Given the description of an element on the screen output the (x, y) to click on. 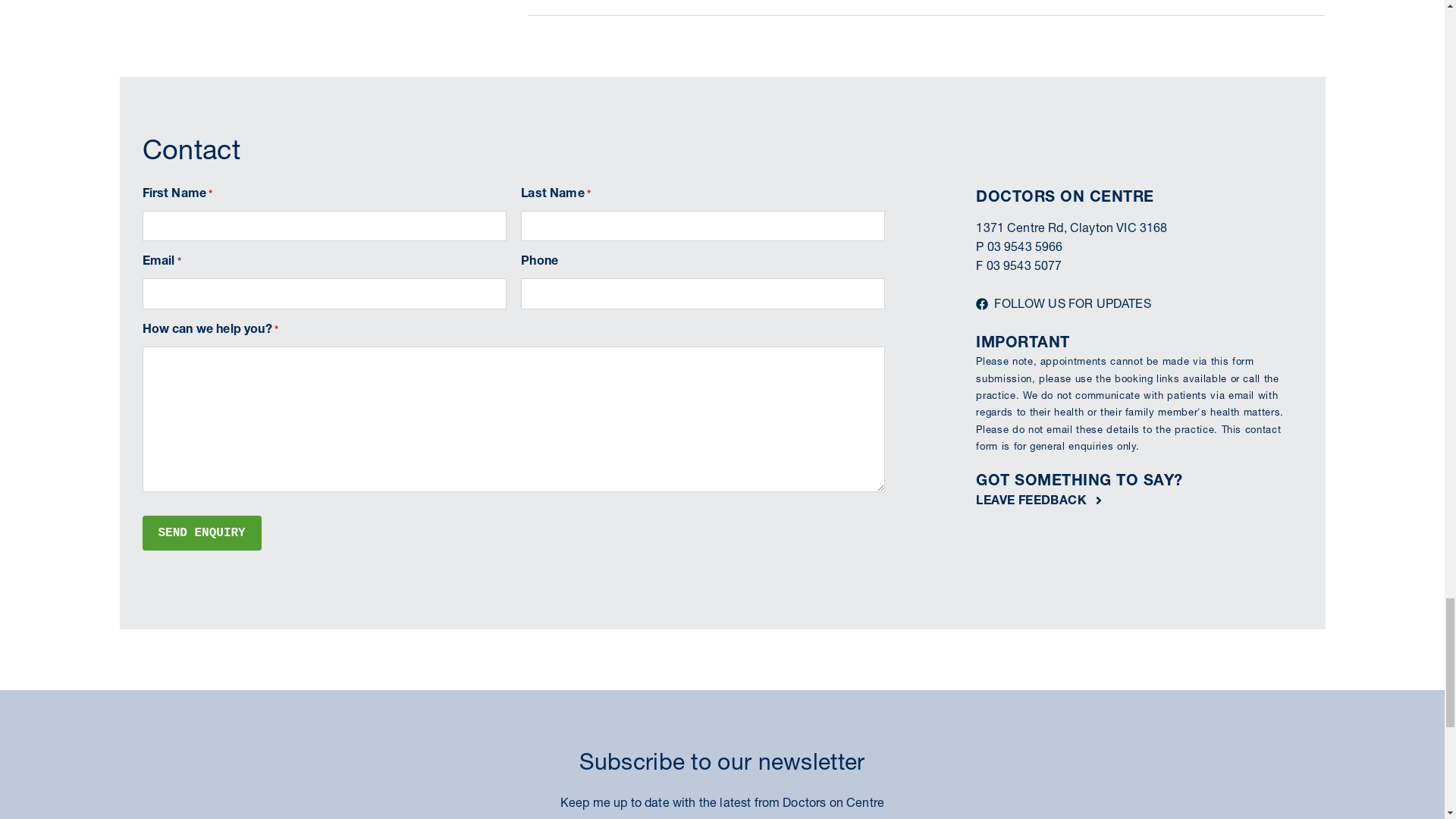
BOOK NOW Element type: text (1244, 74)
LOCATION Element type: text (909, 74)
Qualitas Health Element type: hover (225, 74)
BACK TO HOME Element type: text (1270, 20)
OUR PRACTICES Element type: text (1151, 20)
FACEBOOK Element type: text (861, 347)
FAQS Element type: text (1052, 74)
NEWS Element type: text (988, 74)
OUR DOCTORS Element type: text (804, 74)
BOOK NOW Element type: text (177, 315)
CONTACT Element type: text (1126, 74)
REGISTER WITH US FOR MYMEDICARE Element type: text (1174, 436)
OVERVIEW Element type: text (697, 74)
